Given the description of an element on the screen output the (x, y) to click on. 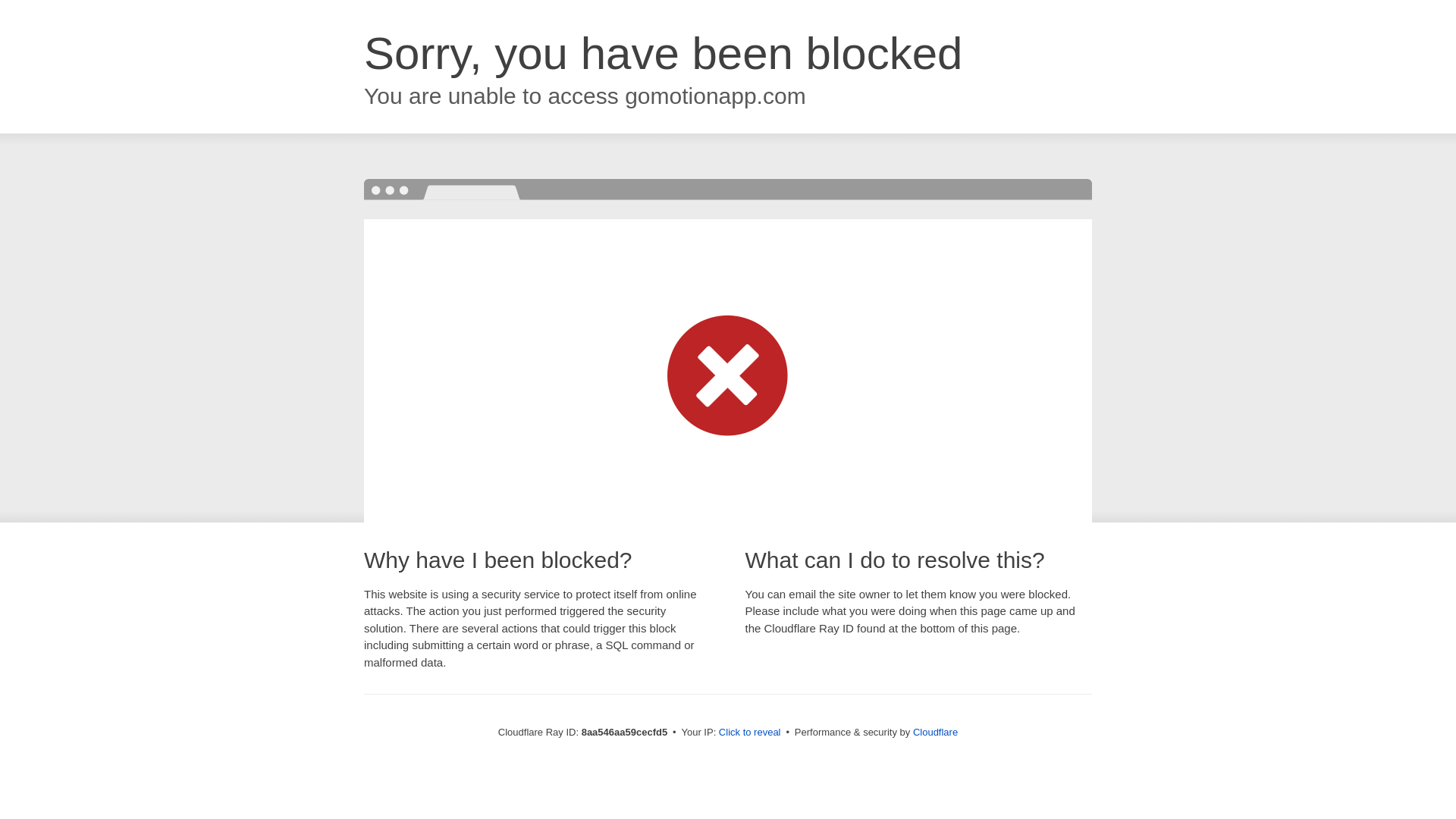
Click to reveal (749, 732)
Cloudflare (935, 731)
